Given the description of an element on the screen output the (x, y) to click on. 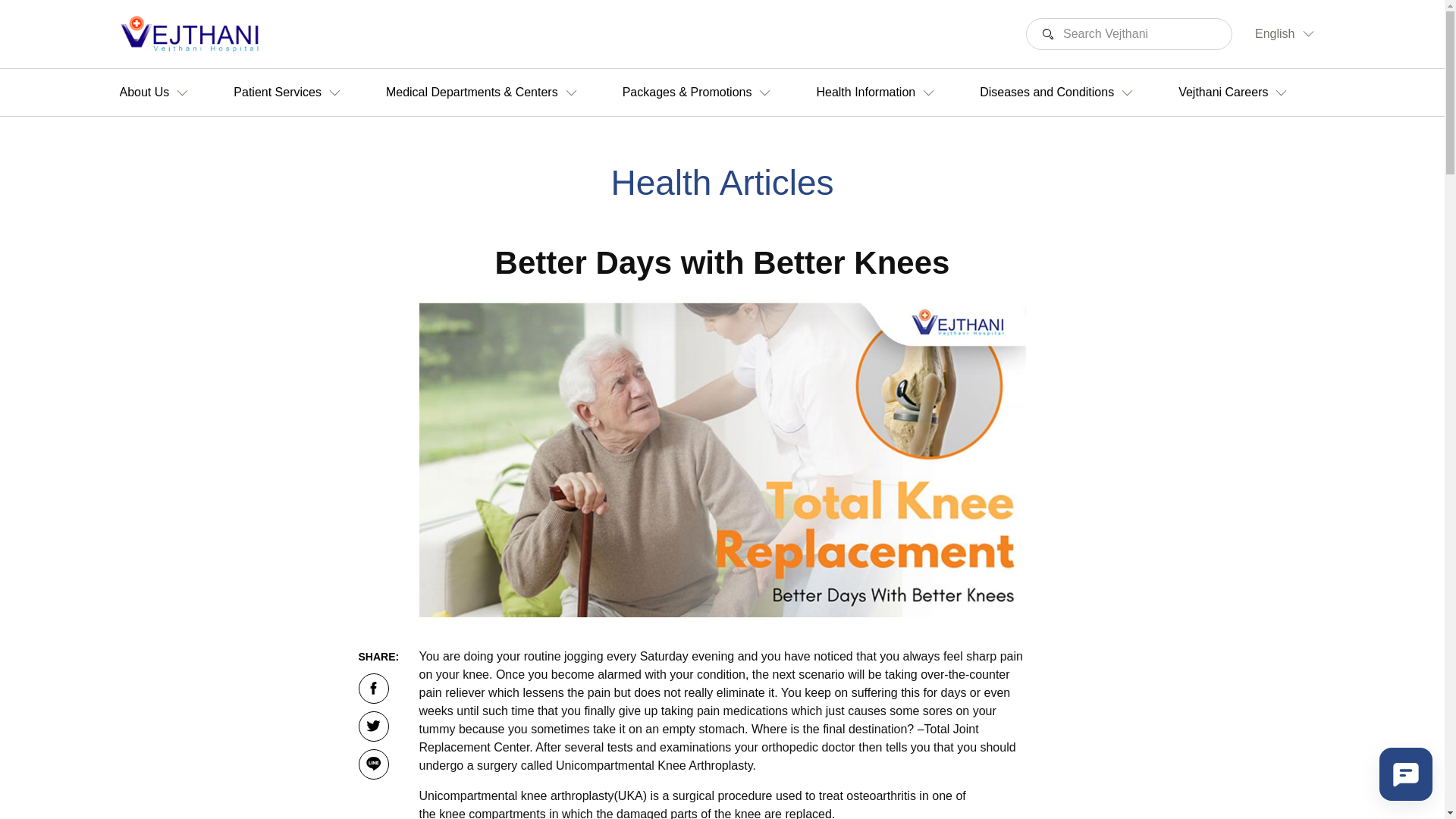
Patient Services (286, 92)
English (1274, 33)
About Us (154, 92)
